Given the description of an element on the screen output the (x, y) to click on. 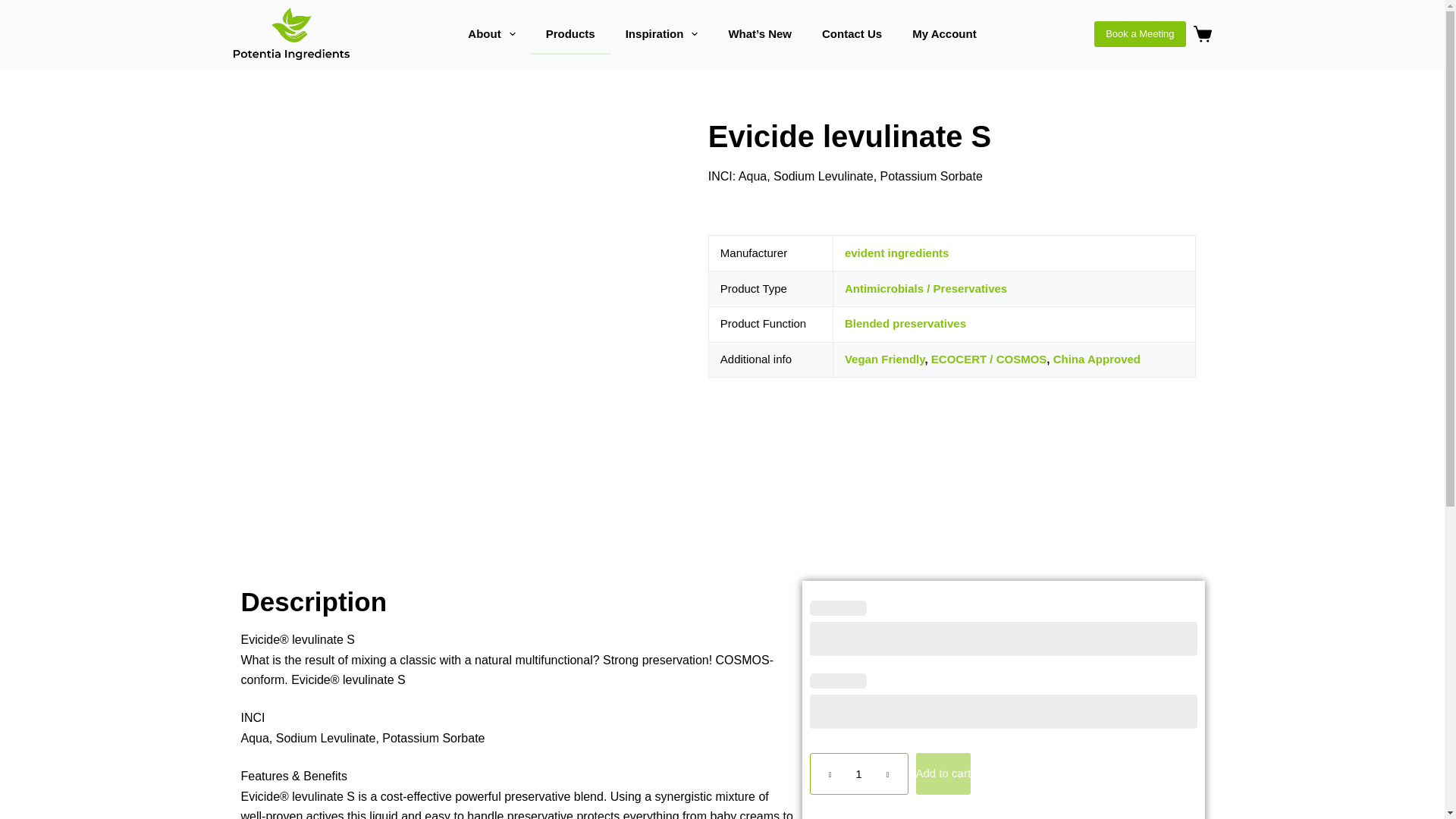
My Account (943, 33)
China Approved (1096, 358)
1 (858, 773)
Contact Us (851, 33)
Blended preservatives (905, 323)
Vegan Friendly (884, 358)
Products (570, 33)
About (490, 33)
Skip to content (15, 7)
Inspiration (661, 33)
